Given the description of an element on the screen output the (x, y) to click on. 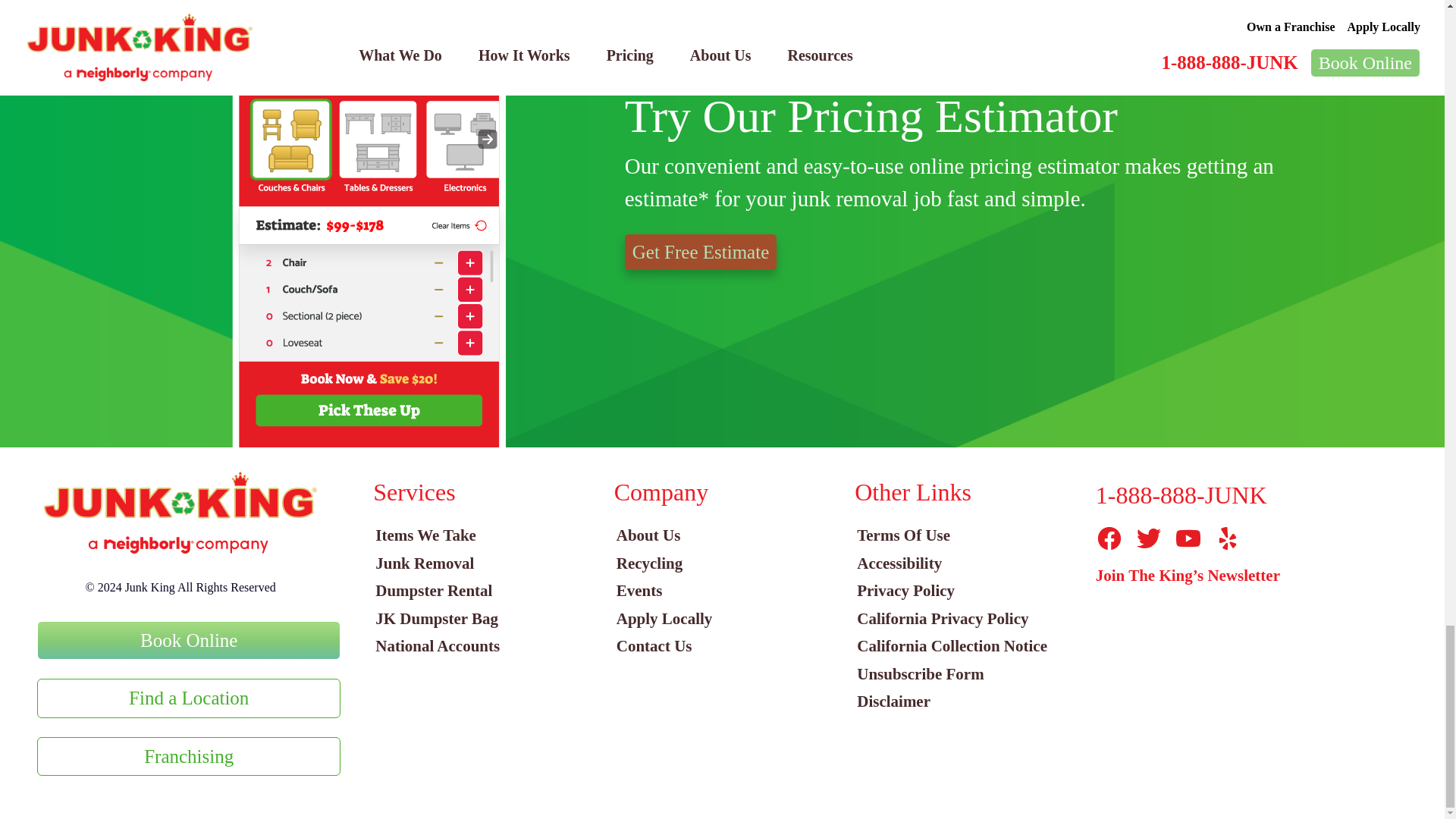
logo (180, 512)
social icon (1148, 538)
social icon (1109, 538)
social icon (1188, 538)
